Given the description of an element on the screen output the (x, y) to click on. 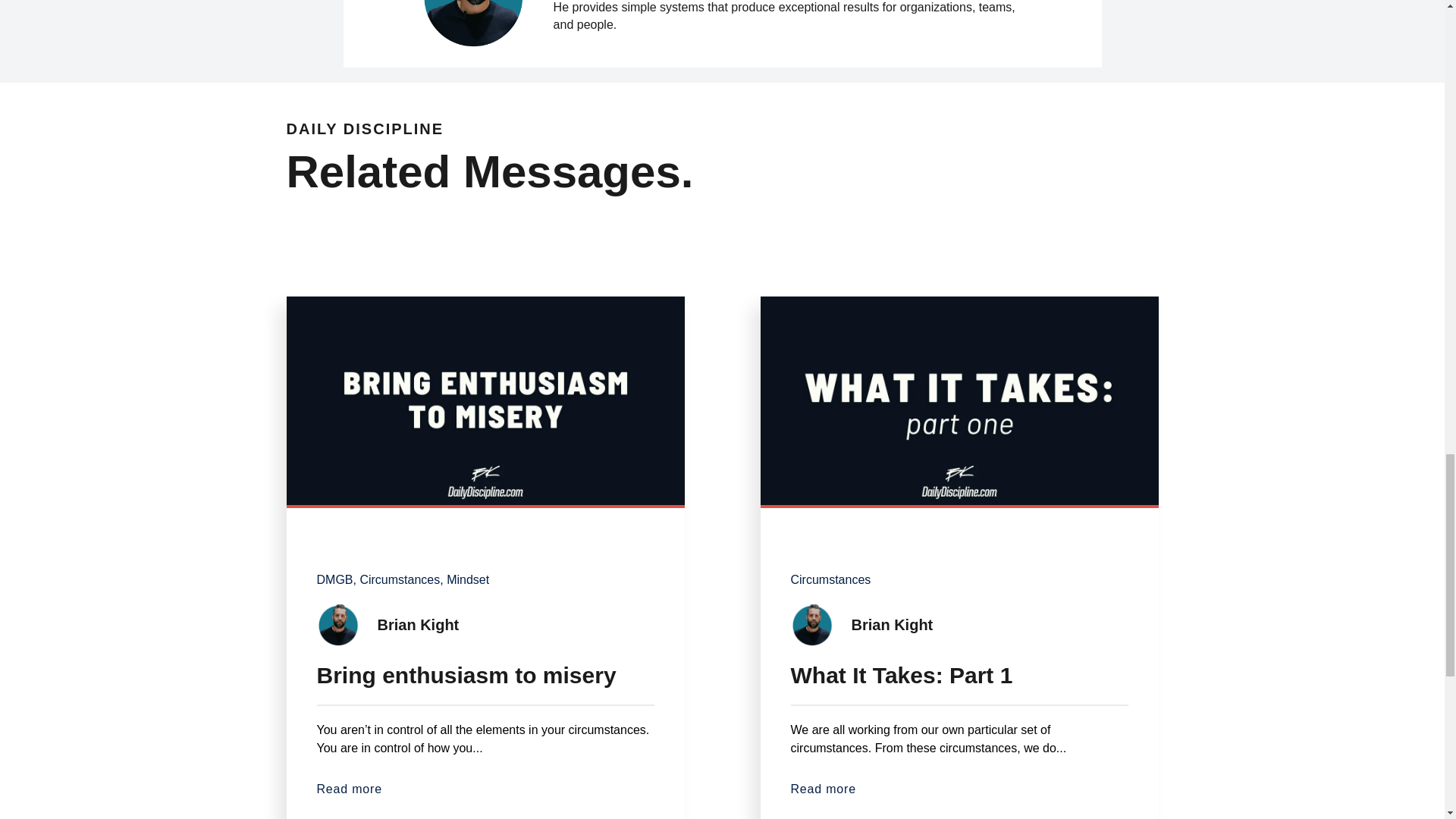
Circumstances (400, 579)
Circumstances (830, 579)
Bring enthusiasm to misery (485, 668)
What It Takes: Part 1 (958, 668)
DMGB (336, 579)
Mindset (467, 579)
Read more (958, 789)
Read more (485, 789)
